Given the description of an element on the screen output the (x, y) to click on. 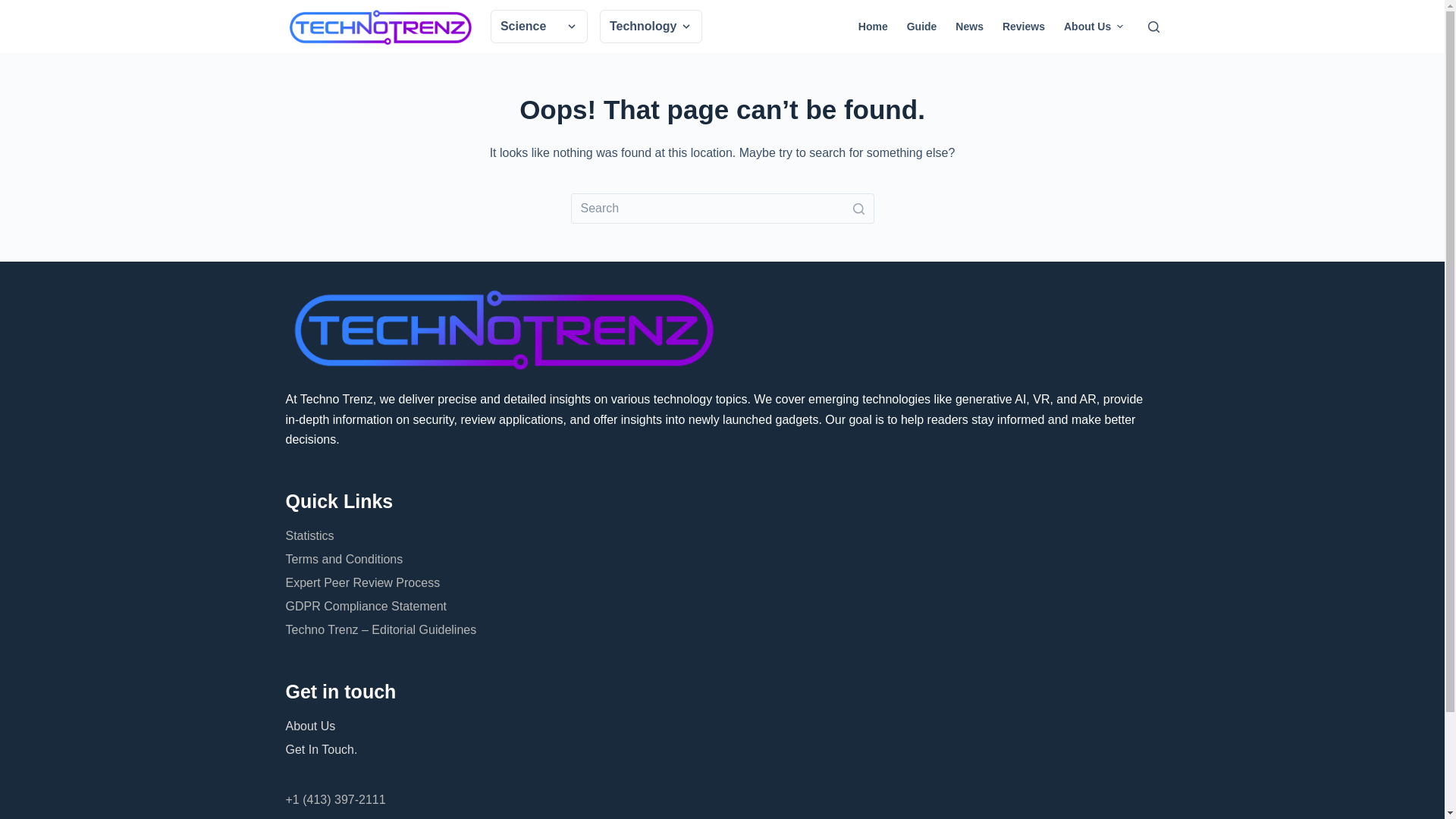
Virtual Reality Statistics (845, 55)
Cyber Monday Statistics (846, 55)
Social Media in The Classroom Statistics (860, 65)
Account Based Marketing Statistics (871, 55)
Distance Learning Statistics (854, 55)
Teacher Bullying Students' Statistics (873, 55)
Small Business Saturdays Statistics (871, 55)
Zero Trust Security Statistics (856, 55)
Google Chrome Statistics (849, 55)
Skip to content (15, 7)
Find More... (886, 59)
Home (872, 26)
Technology (650, 26)
Search Input (721, 208)
Cyberbullying In The Workplace Statistics (862, 65)
